Given the description of an element on the screen output the (x, y) to click on. 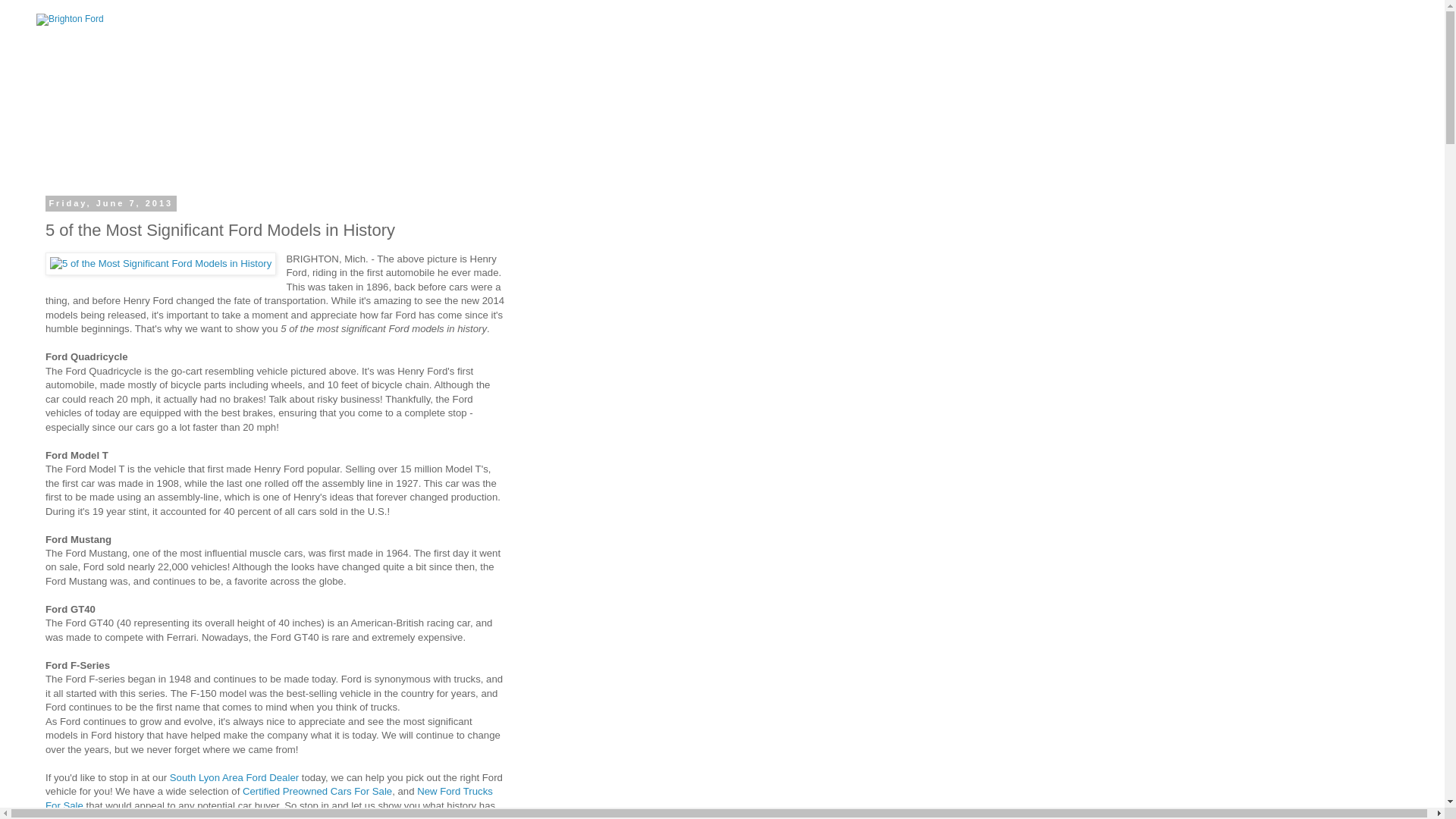
5 of the Most Significant Ford Models in History (160, 263)
New Ford Trucks For Sale (269, 797)
Certified Preowned Cars For Sale (317, 790)
South Lyon Area Ford Dealer (234, 777)
